Given the description of an element on the screen output the (x, y) to click on. 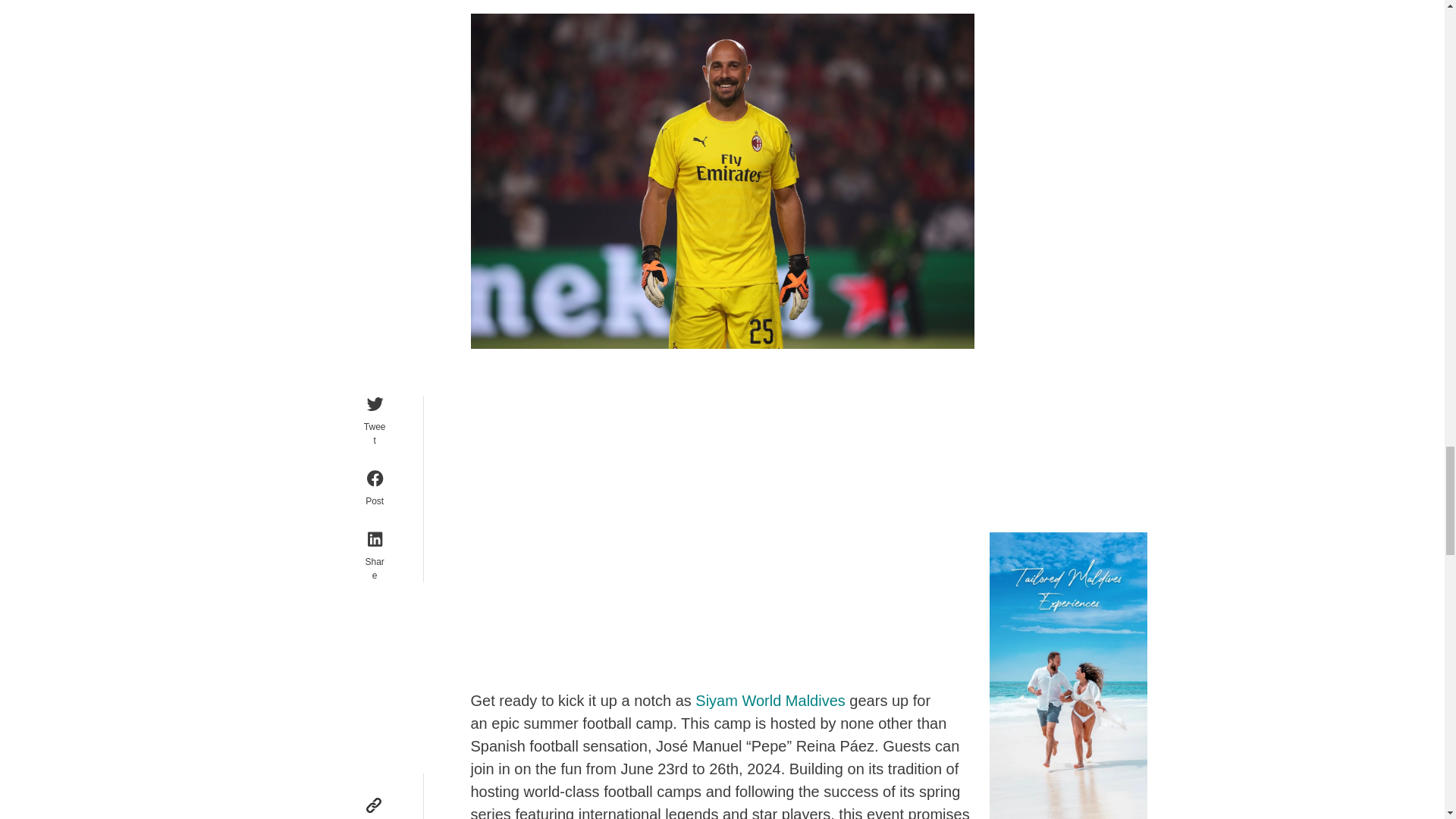
Copy (373, 807)
Siyam World Maldives (769, 700)
